Given the description of an element on the screen output the (x, y) to click on. 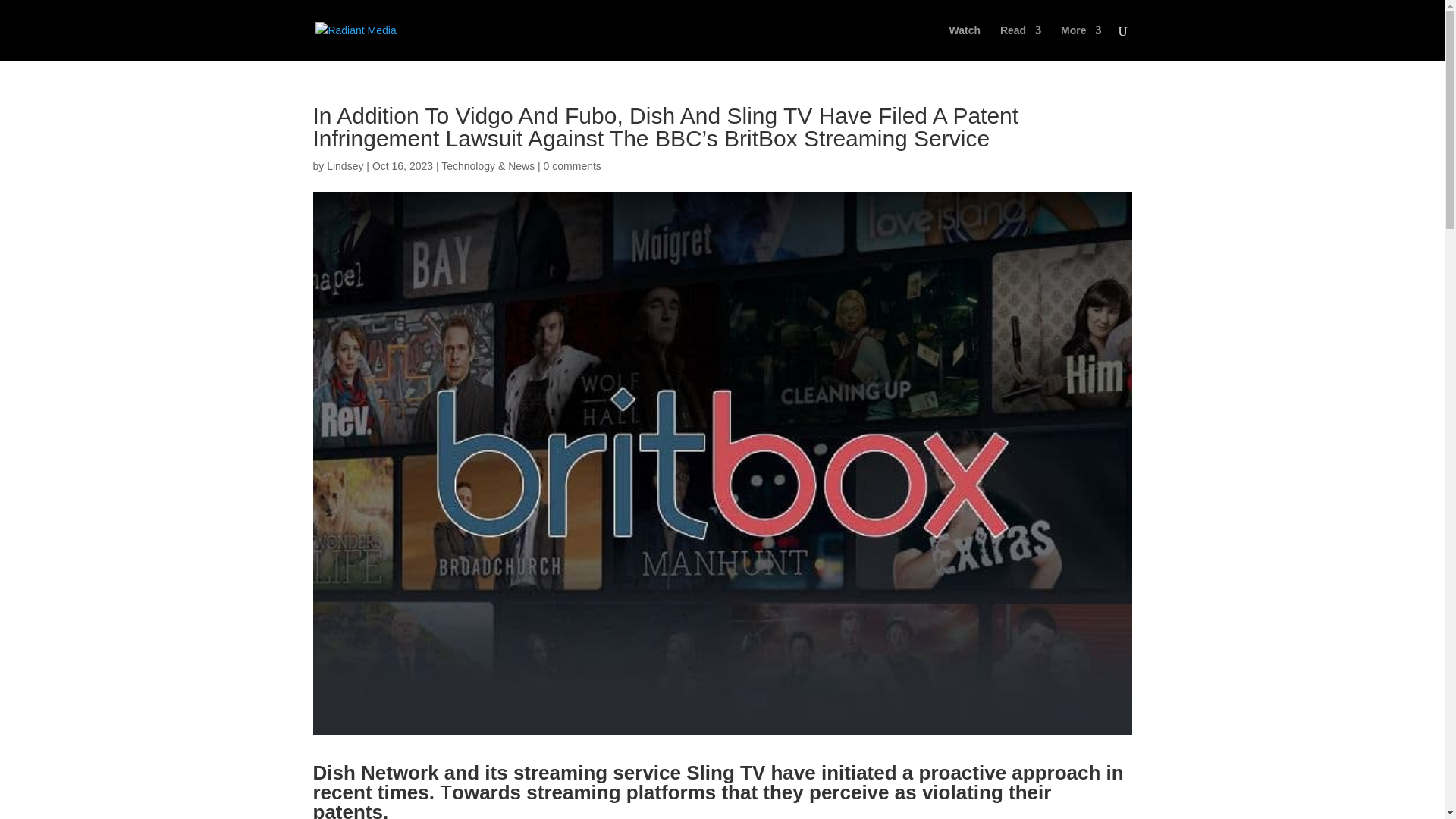
0 comments (572, 165)
Lindsey (344, 165)
Read (1020, 42)
More (1080, 42)
Posts by Lindsey (344, 165)
